Given the description of an element on the screen output the (x, y) to click on. 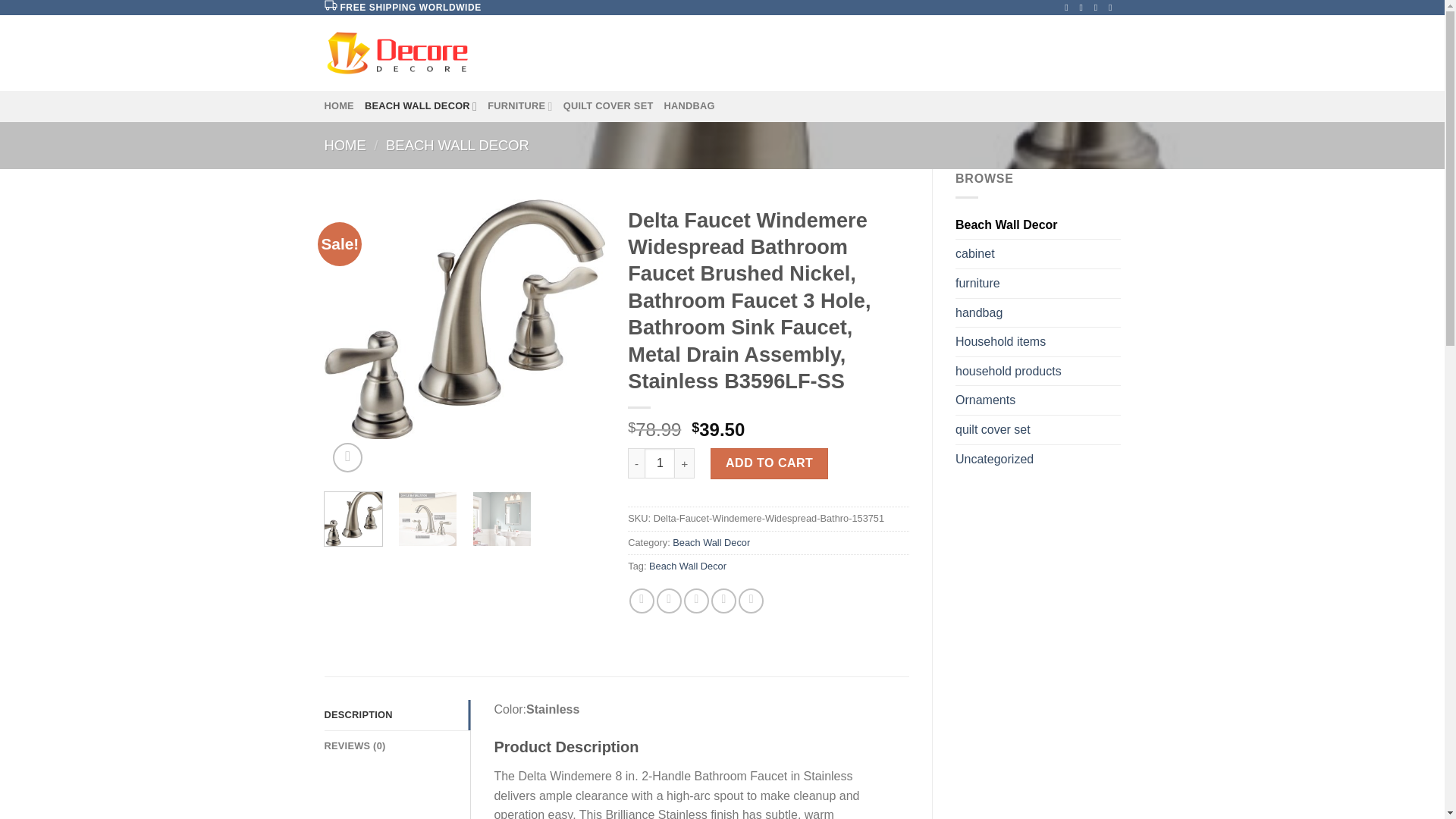
Ornaments (1038, 399)
QUILT COVER SET (608, 105)
HANDBAG (688, 105)
BEDW99377.jpg (464, 318)
Zoom (347, 457)
FURNITURE (520, 105)
BEACH WALL DECOR (457, 145)
furniture (1038, 283)
quilt cover set (1038, 429)
Beach Wall Decor (1038, 224)
LOGIN (983, 52)
handbag (1038, 312)
HOME (345, 145)
cabinet (1038, 253)
1 (660, 462)
